Given the description of an element on the screen output the (x, y) to click on. 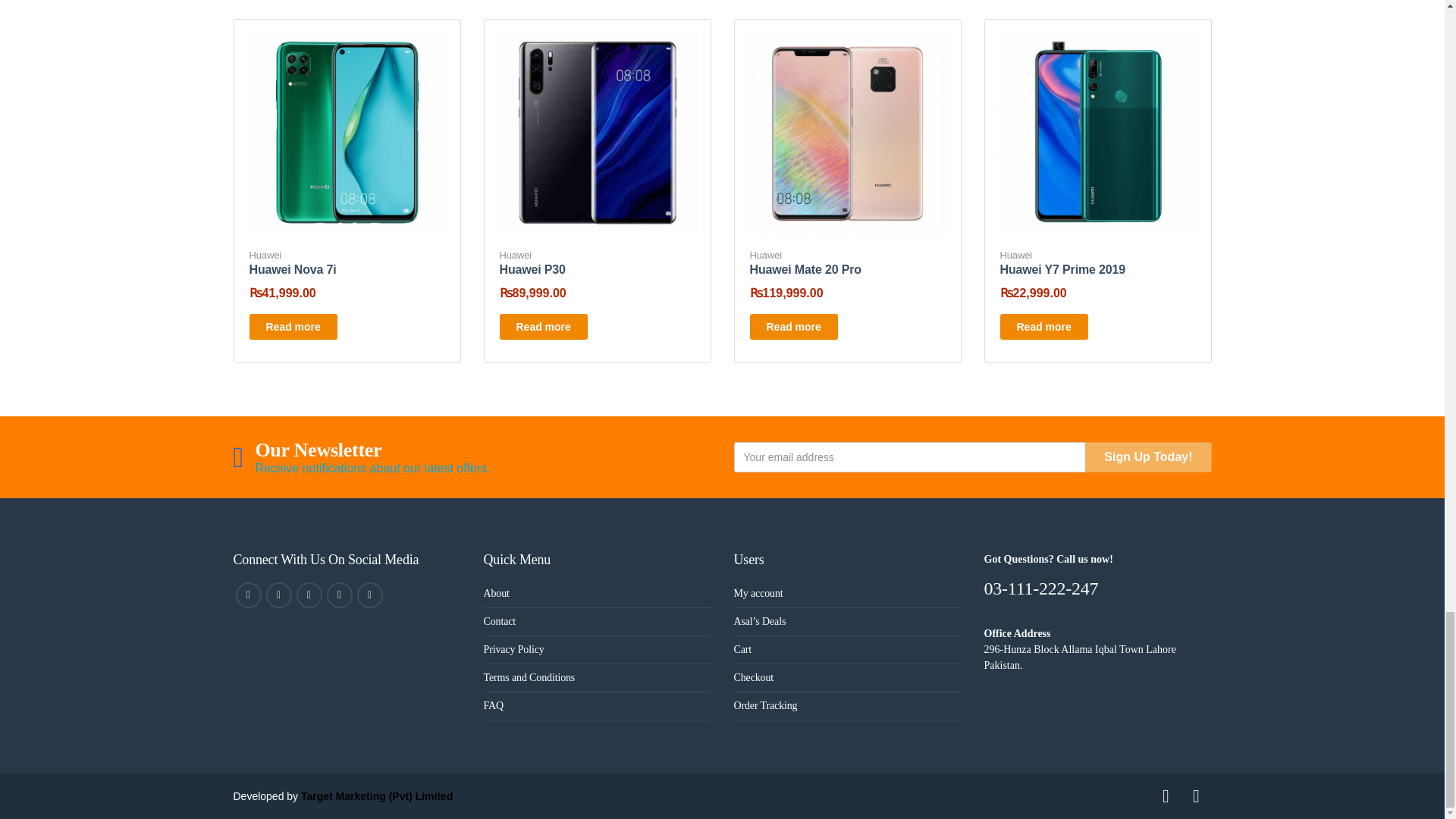
Huawei (264, 255)
